Given the description of an element on the screen output the (x, y) to click on. 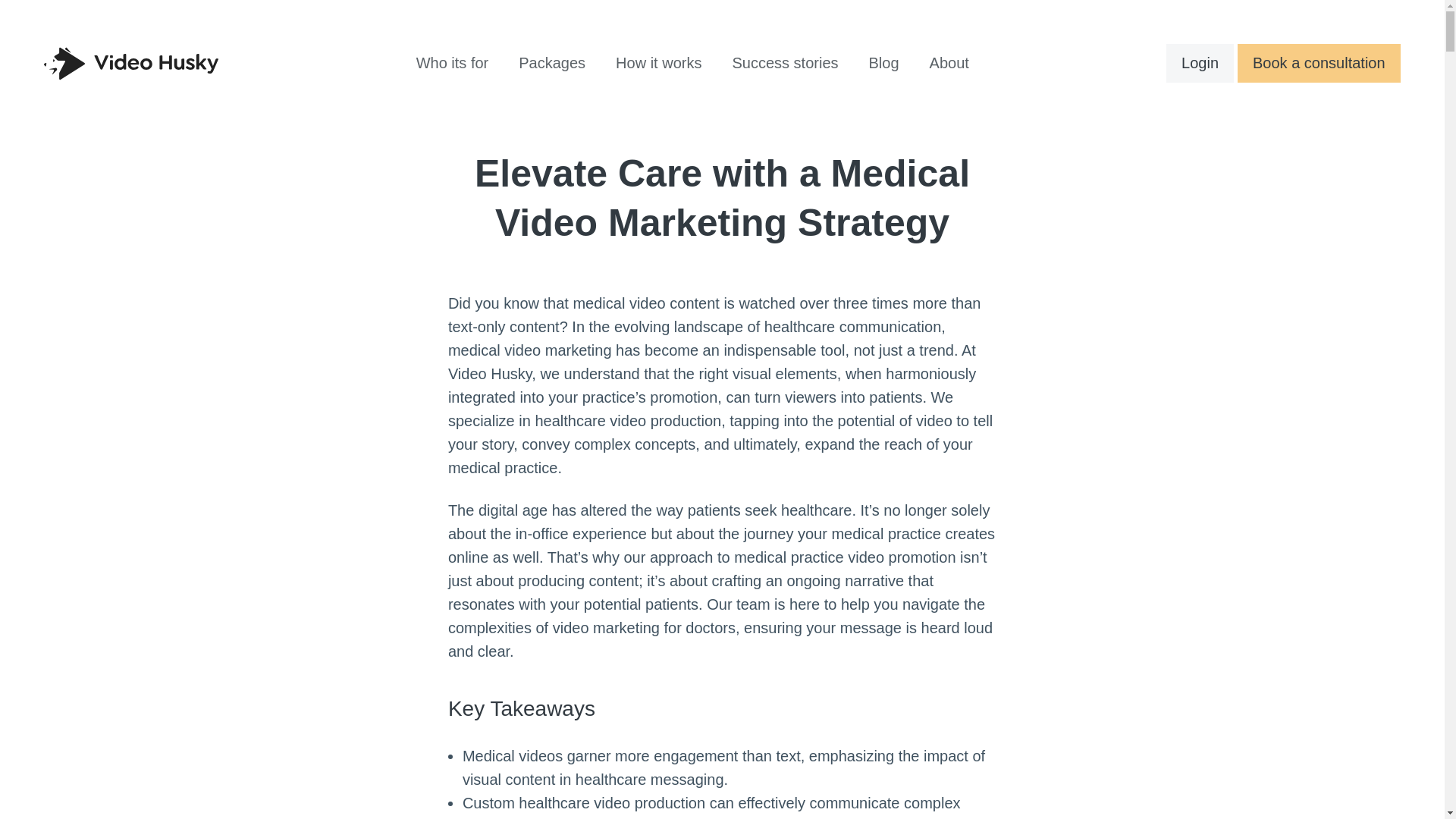
Packages (551, 63)
Who its for (452, 63)
How it works (657, 63)
Book a consultation (1318, 63)
Success stories (784, 63)
Login (1199, 63)
About (949, 63)
Blog (883, 63)
